Given the description of an element on the screen output the (x, y) to click on. 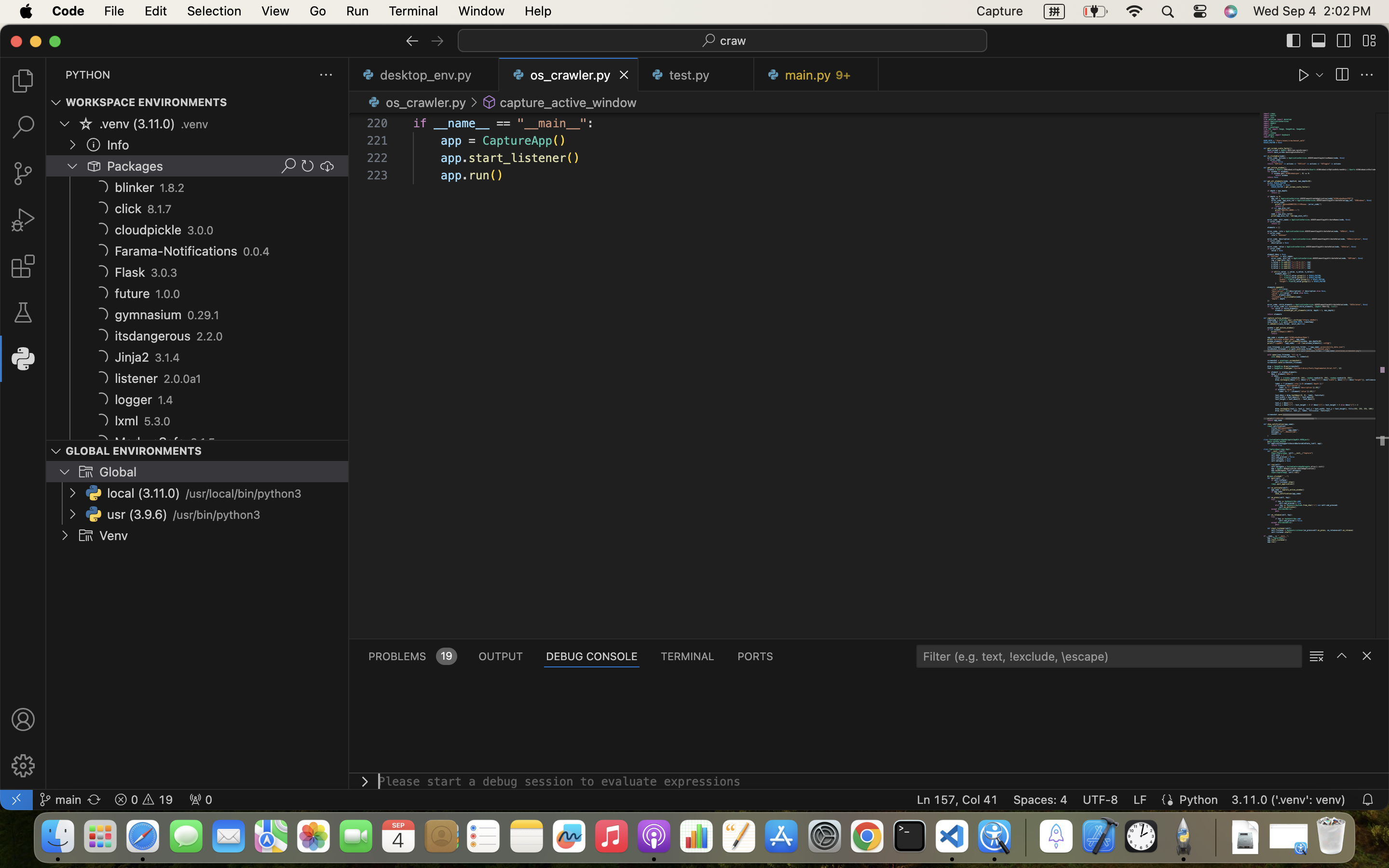
 Element type: AXStaticText (1366, 74)
 Element type: AXButton (1341, 74)
local (3.11.0) Element type: AXStaticText (143, 493)
 Element type: AXStaticText (100, 186)
